Given the description of an element on the screen output the (x, y) to click on. 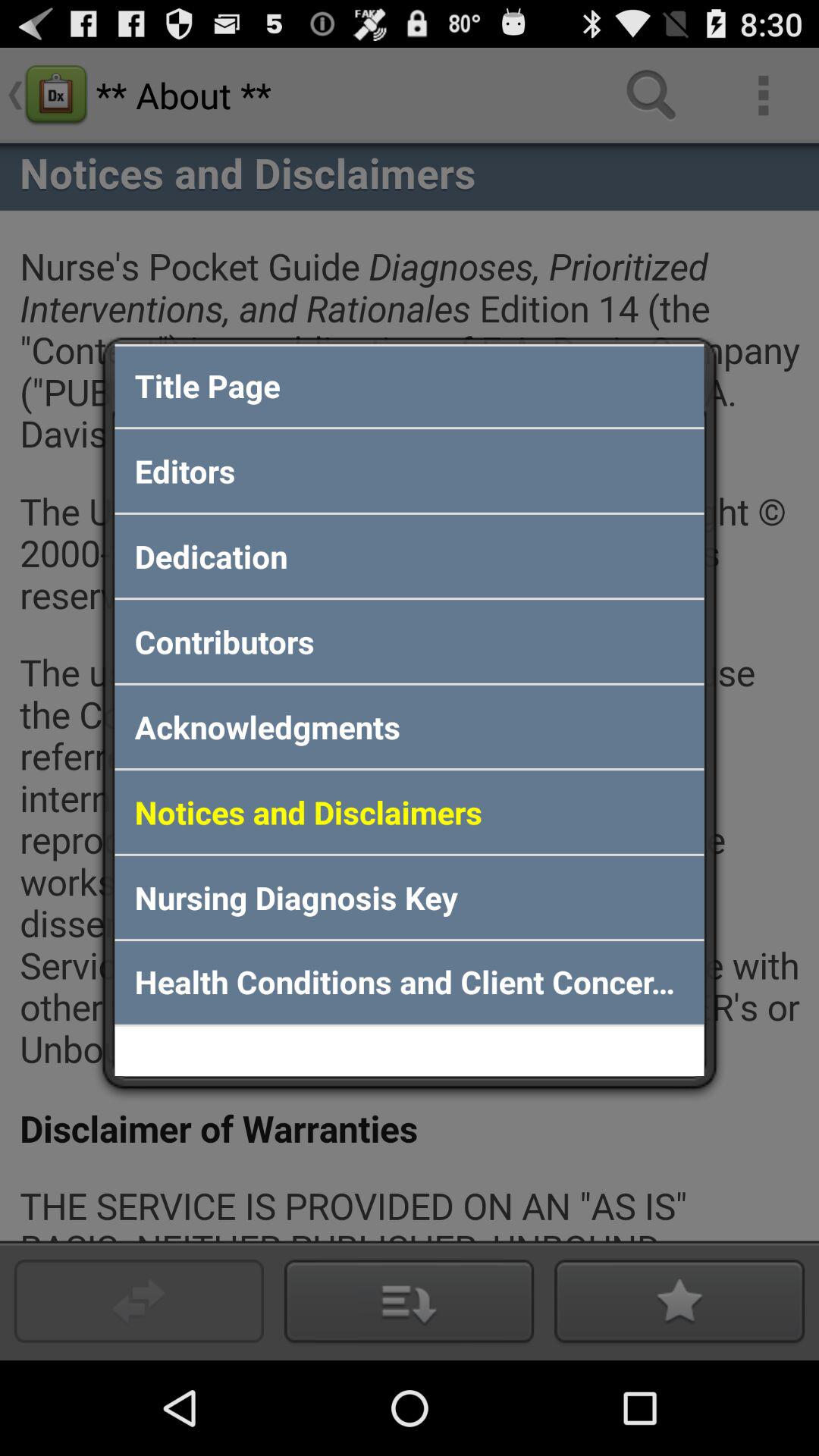
choose item above health conditions and icon (409, 897)
